Given the description of an element on the screen output the (x, y) to click on. 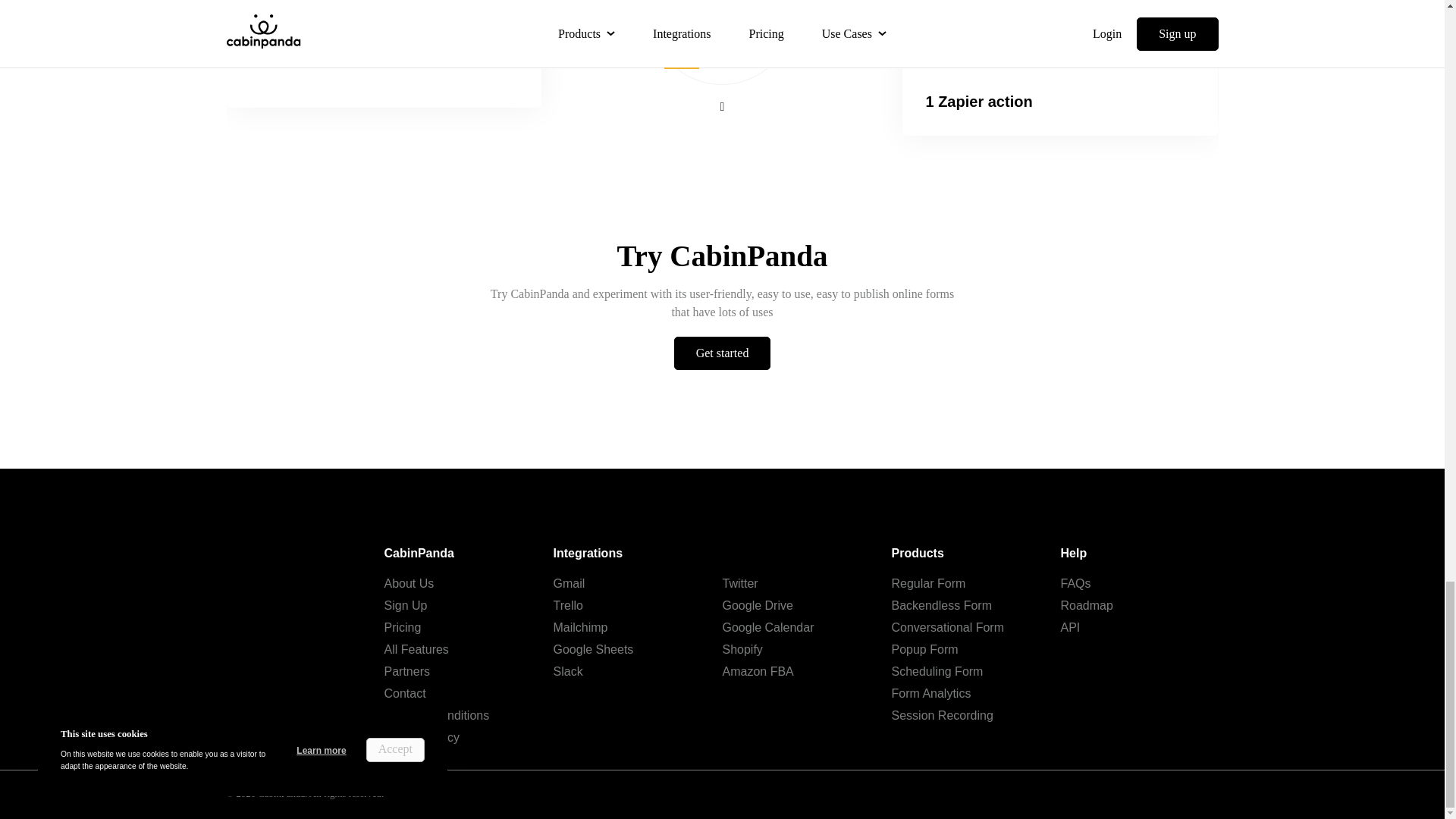
About Us (408, 583)
Trello (568, 604)
Pricing (402, 626)
Privacy Policy (422, 737)
Sign Up (405, 604)
Contact (404, 693)
Slack (568, 671)
Gmail (569, 583)
Get started (722, 353)
All Features (416, 649)
